Given the description of an element on the screen output the (x, y) to click on. 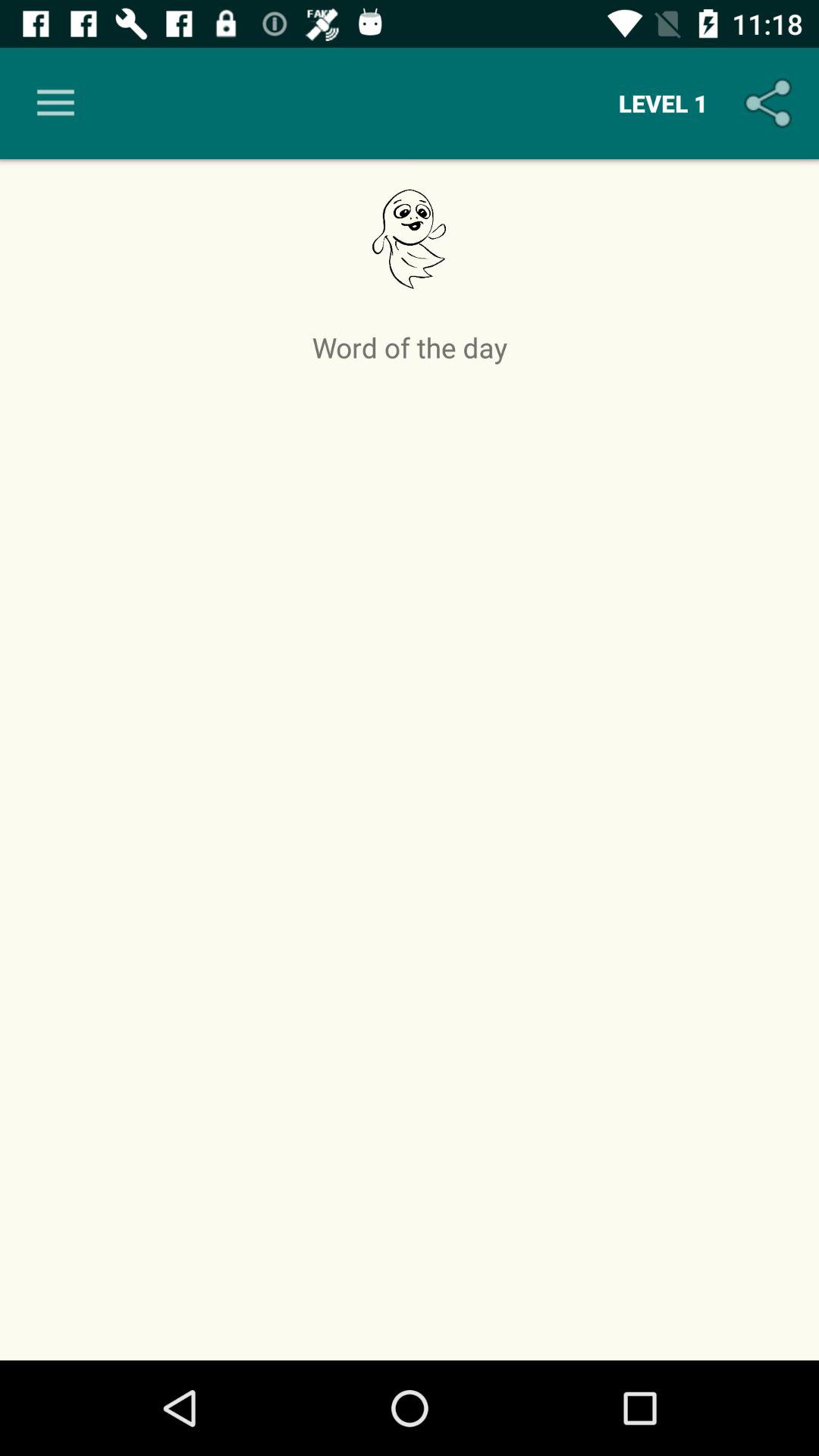
turn off item above word of the item (662, 103)
